Given the description of an element on the screen output the (x, y) to click on. 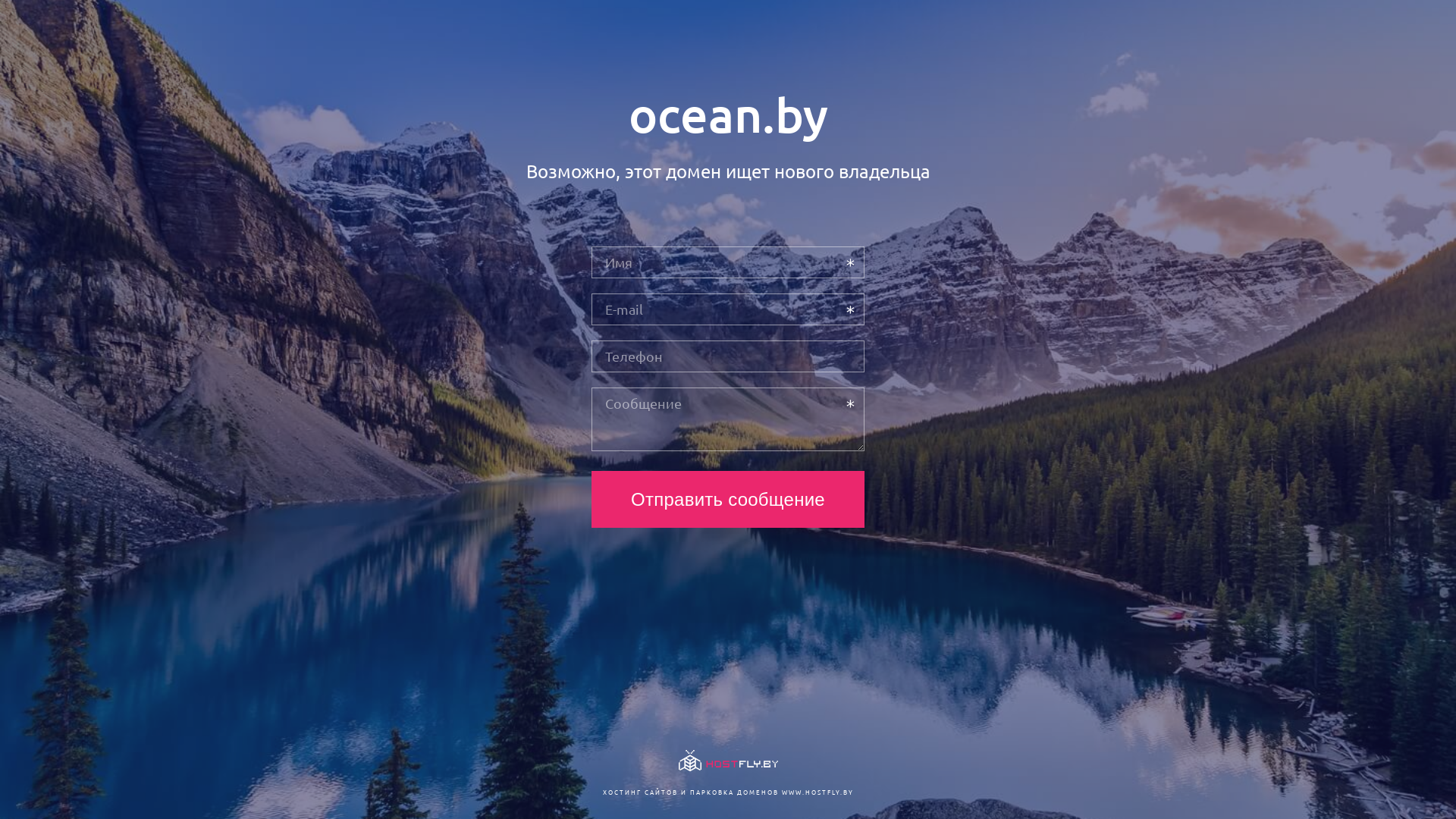
WWW.HOSTFLY.BY Element type: text (817, 791)
